Given the description of an element on the screen output the (x, y) to click on. 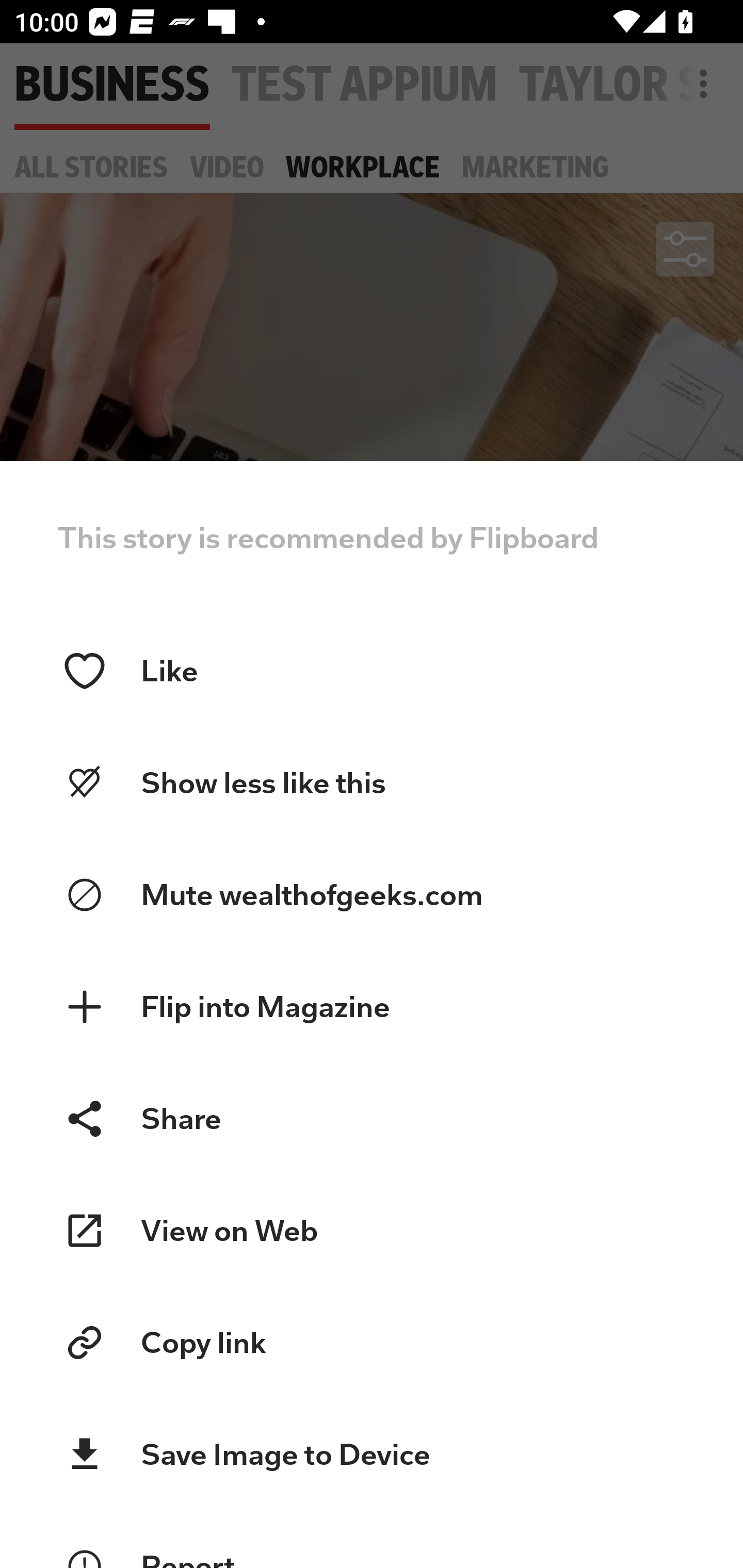
Like (371, 670)
Show less like this (371, 782)
Mute wealthofgeeks.com (371, 894)
Flip into Magazine (371, 1007)
Share (371, 1118)
View on Web (371, 1230)
Copy link (371, 1342)
Save Image to Device (371, 1453)
